Given the description of an element on the screen output the (x, y) to click on. 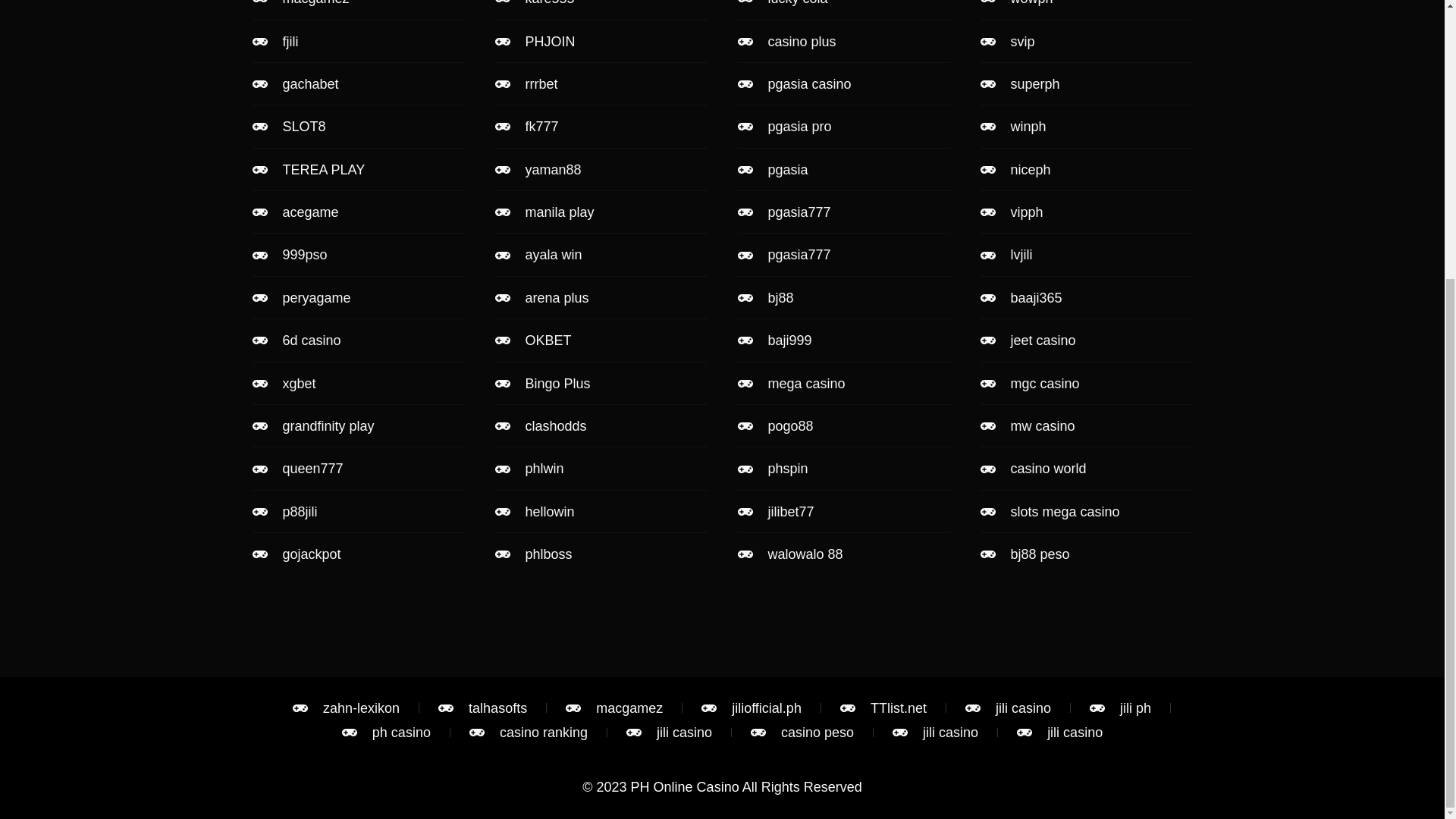
hellowin (600, 511)
rrrbet (600, 84)
queen777 (357, 468)
ayala win (600, 254)
gachabet (357, 84)
manila play (600, 211)
pgasia pro (842, 126)
clashodds (600, 426)
fk777 (600, 126)
grandfinity play (357, 426)
